Given the description of an element on the screen output the (x, y) to click on. 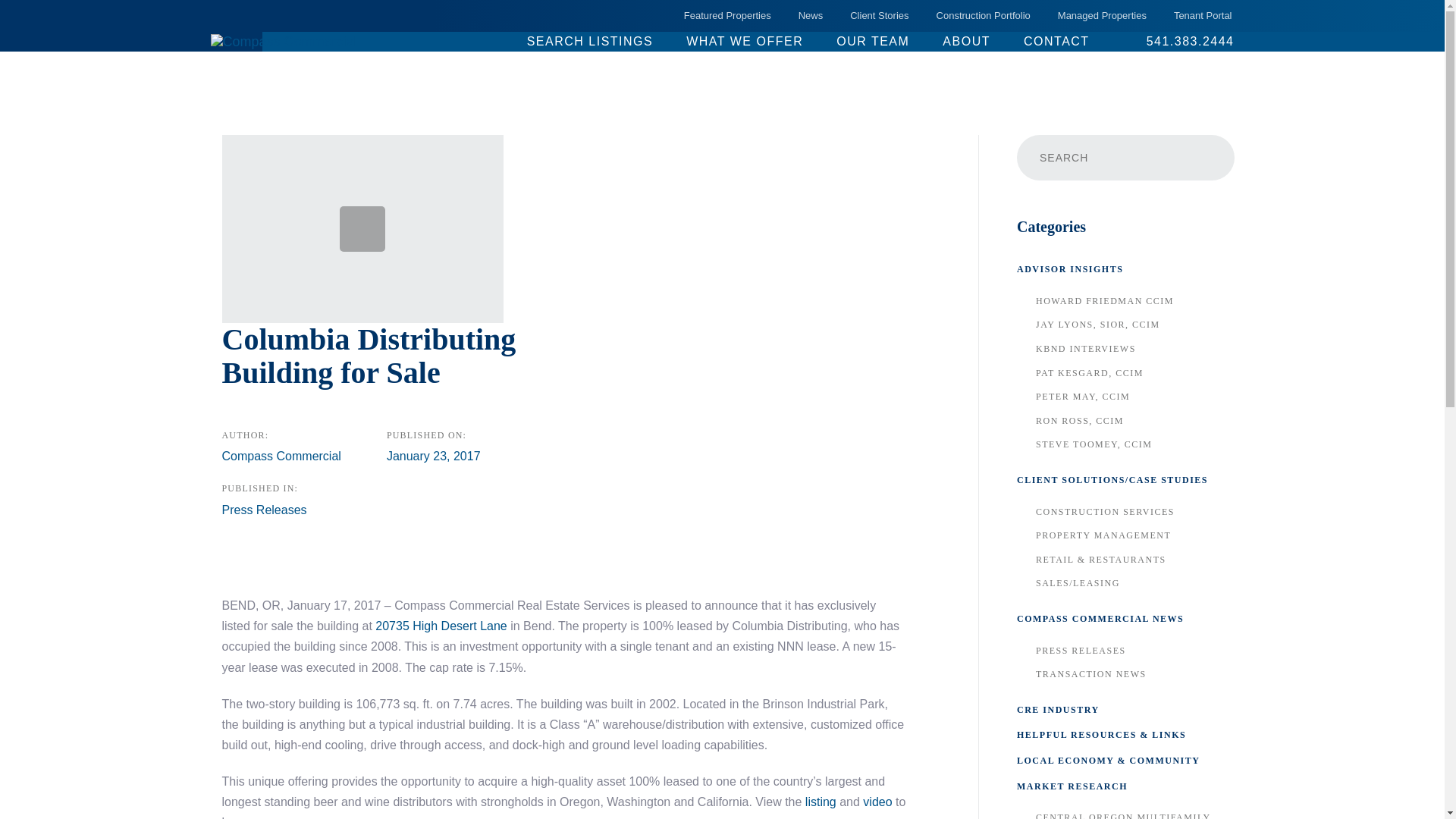
listing (820, 801)
WHAT WE OFFER (744, 41)
Featured Properties (726, 15)
CONTACT (1056, 41)
Managed Properties (1101, 15)
ABOUT (966, 41)
541.383.2444 (1170, 41)
Construction Portfolio (983, 15)
Posts by Compass Commercial (280, 455)
SEARCH LISTINGS (598, 41)
